Given the description of an element on the screen output the (x, y) to click on. 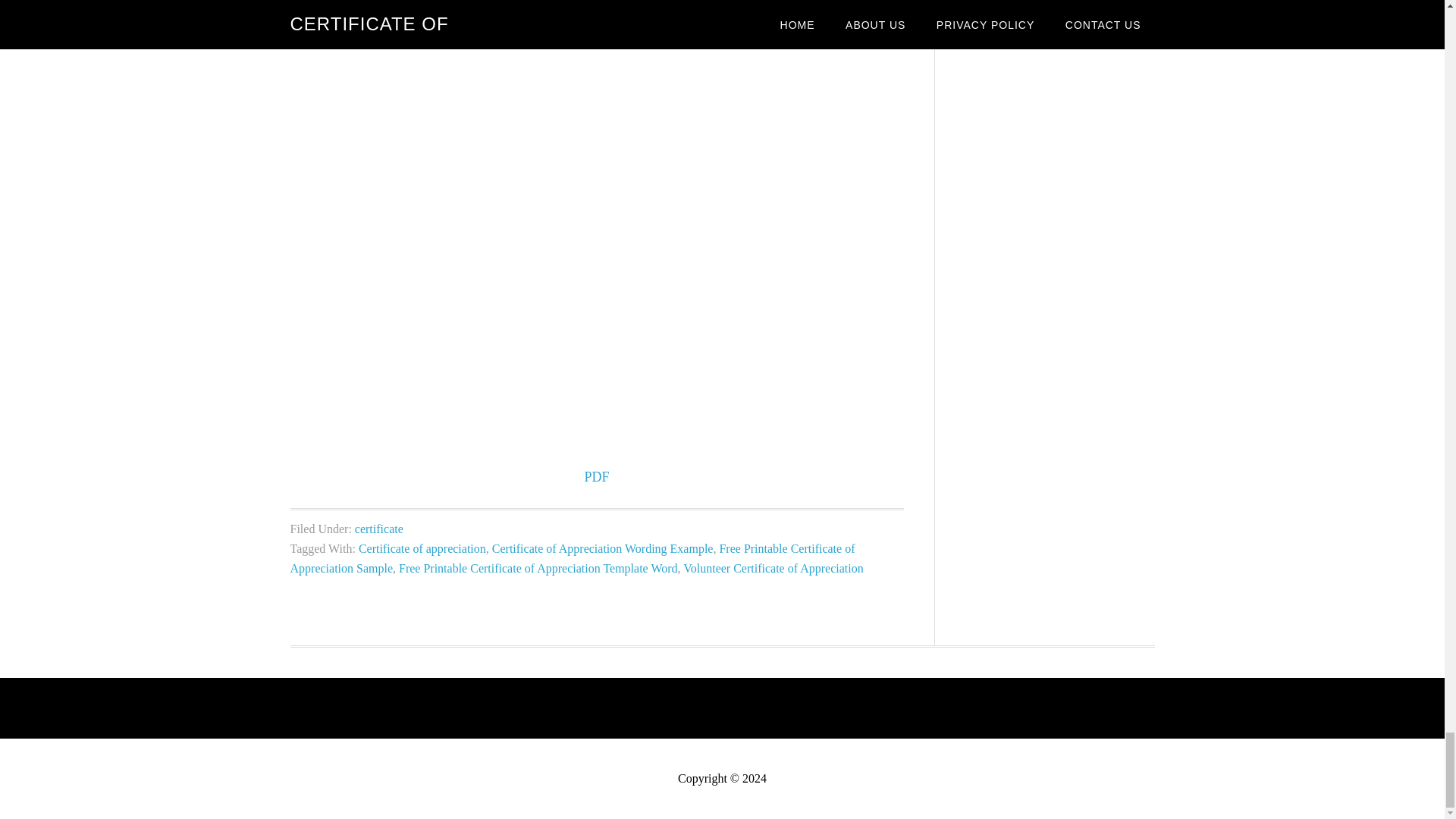
Volunteer Certificate of Appreciation (772, 567)
Certificate of Appreciation Wording Example (602, 548)
Free Printable Certificate of Appreciation Template Word (538, 567)
PDF (595, 476)
certificate (379, 528)
Free Printable Certificate of Appreciation Sample (571, 558)
Certificate of appreciation (422, 548)
